Given the description of an element on the screen output the (x, y) to click on. 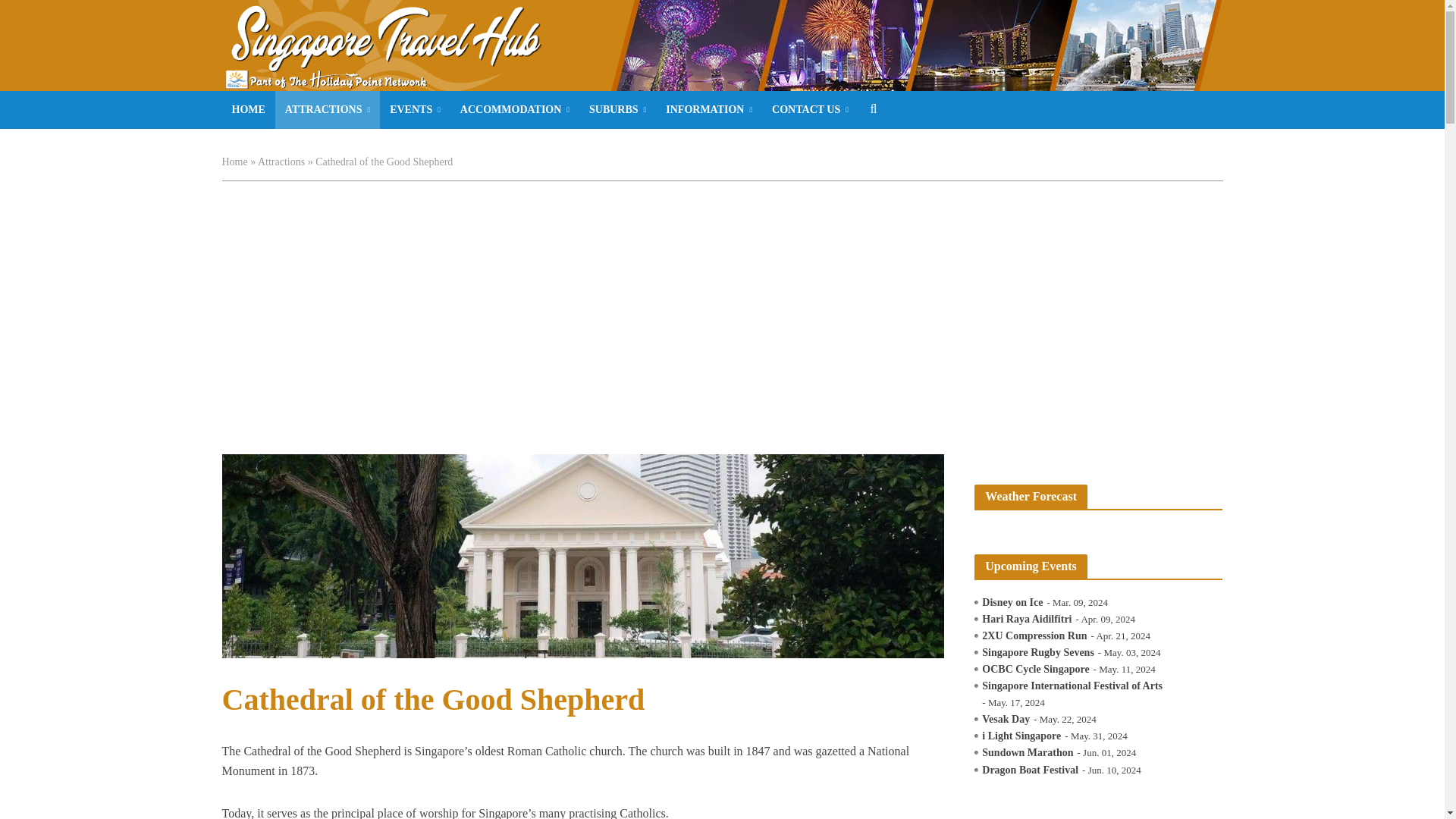
HOME (248, 109)
ATTRACTIONS (327, 109)
